Given the description of an element on the screen output the (x, y) to click on. 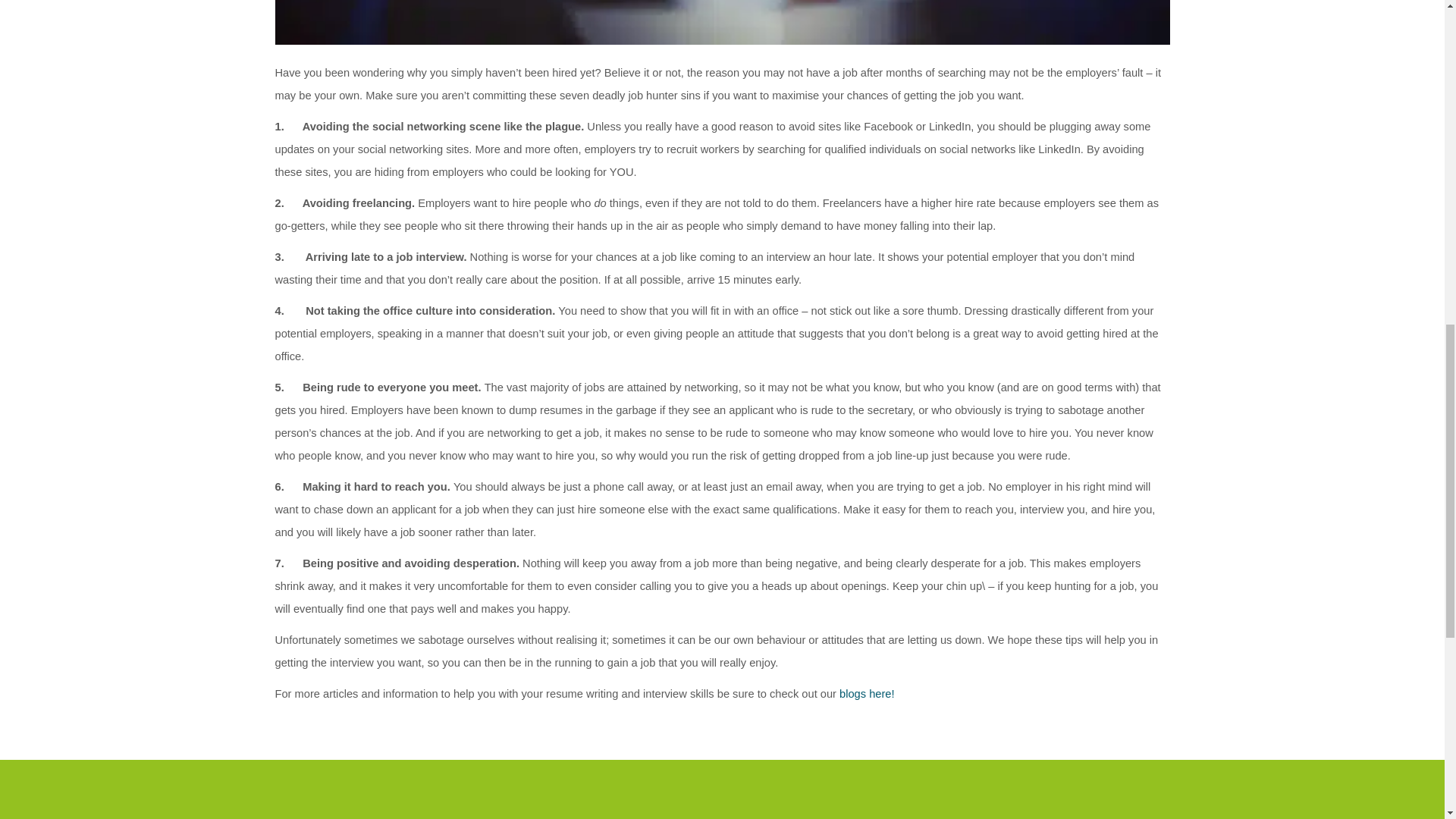
blogs here! (867, 693)
